Given the description of an element on the screen output the (x, y) to click on. 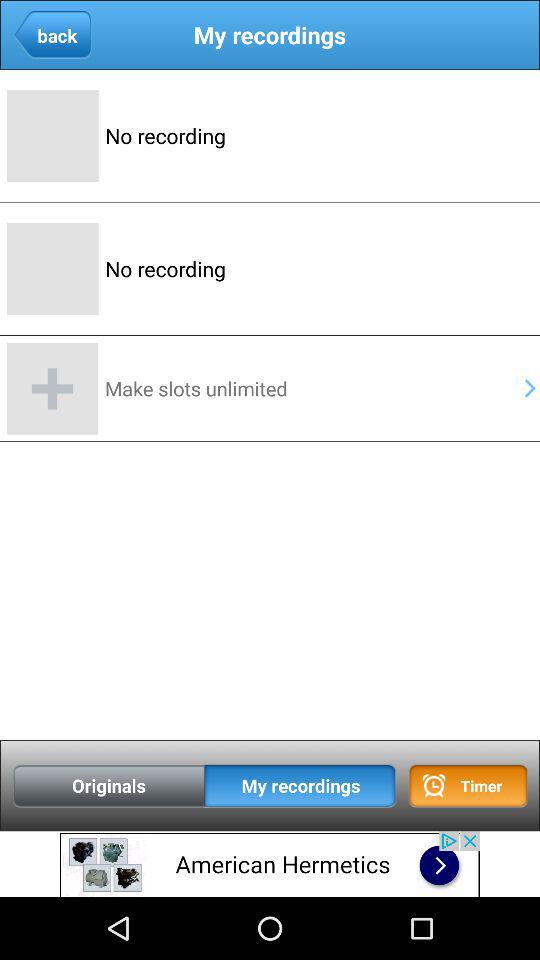
start timer (468, 785)
